Given the description of an element on the screen output the (x, y) to click on. 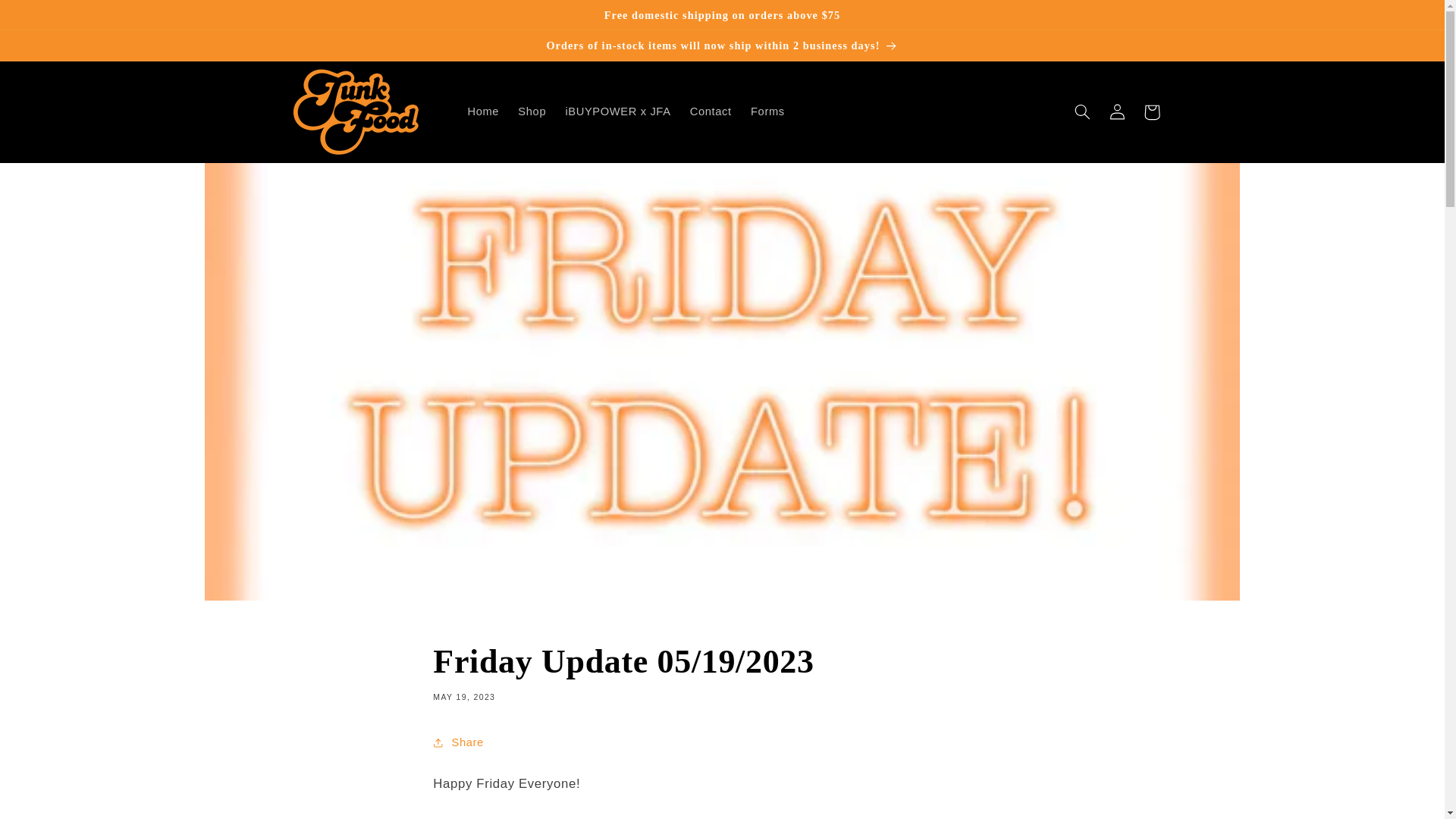
iBUYPOWER x JFA (617, 111)
Log in (1116, 112)
Skip to content (48, 18)
Cart (1151, 112)
Forms (767, 111)
Shop (532, 111)
Contact (710, 111)
Home (483, 111)
